Given the description of an element on the screen output the (x, y) to click on. 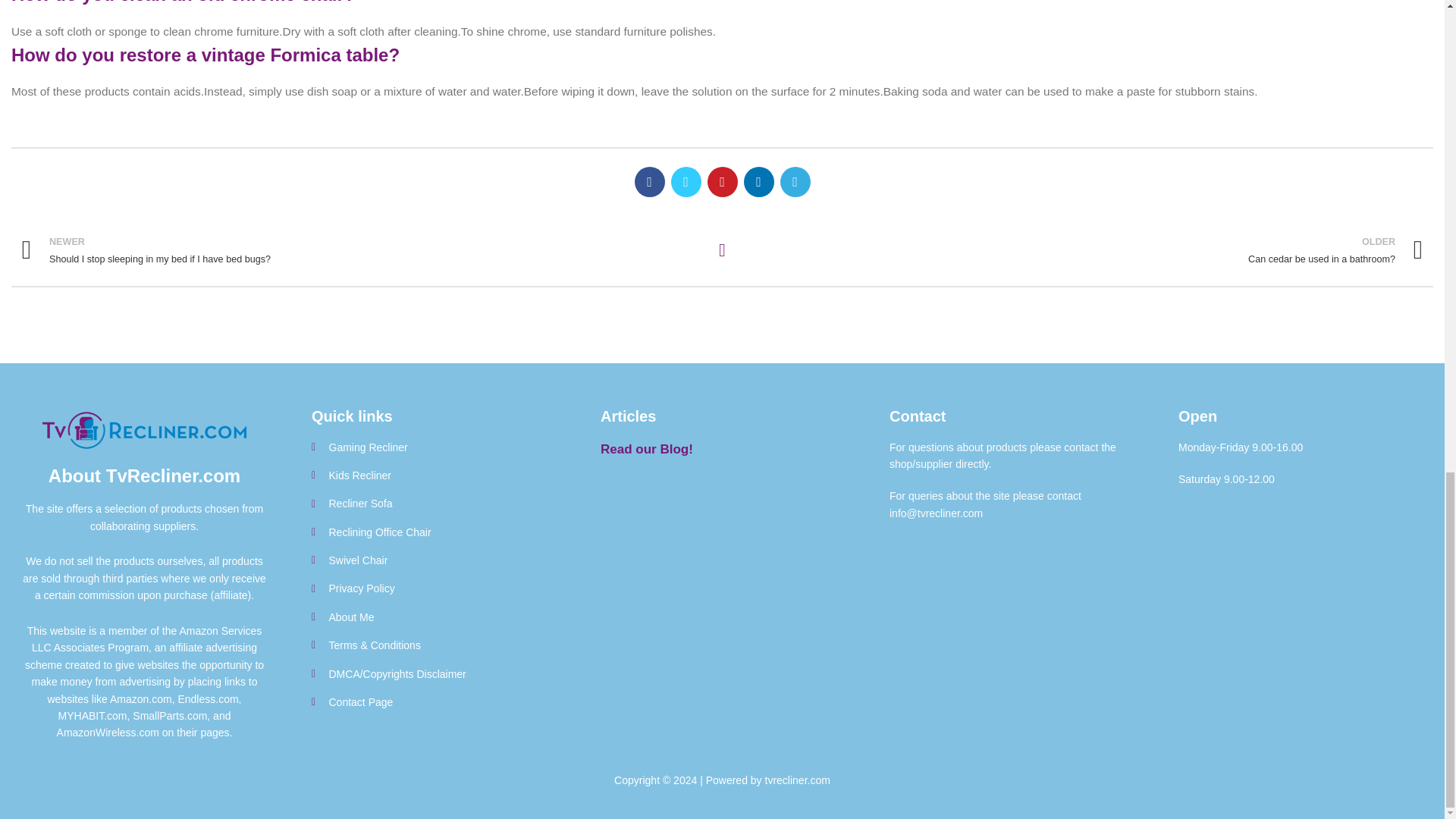
Back to list (722, 250)
Gaming Recliner (432, 446)
Recliner Sofa (432, 503)
Reclining Office Chair (432, 532)
About Me (361, 250)
Swivel Chair (1082, 250)
Kids Recliner (432, 617)
Privacy Policy (432, 560)
